Given the description of an element on the screen output the (x, y) to click on. 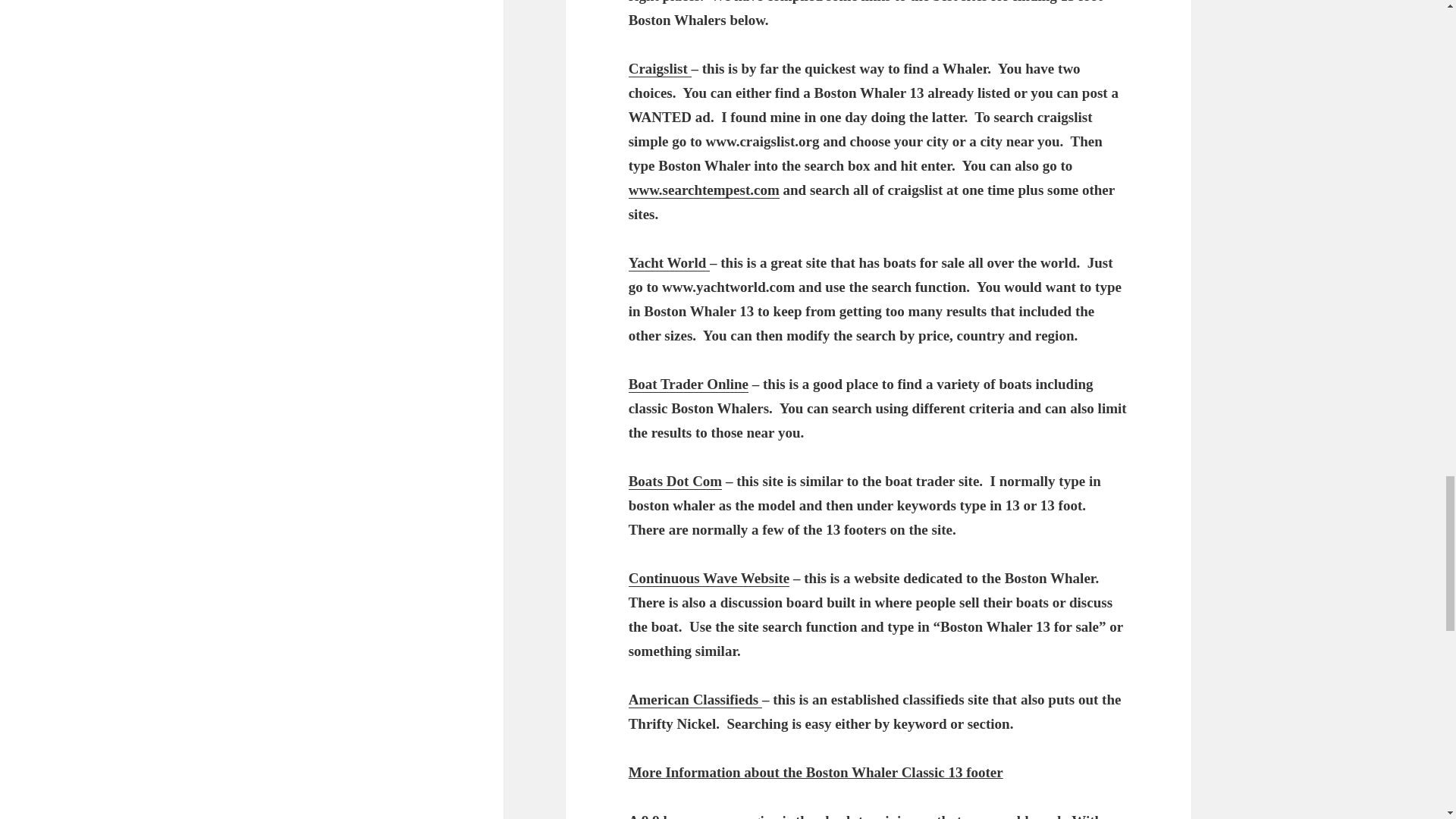
Boston Whaler Classic 13 Sport for sale (688, 384)
www.searchtempest.com (703, 190)
Craigslist (659, 68)
Used Boston Whaler 13 For Sale (659, 68)
Boston Whaler 13 for sale used (669, 262)
